Given the description of an element on the screen output the (x, y) to click on. 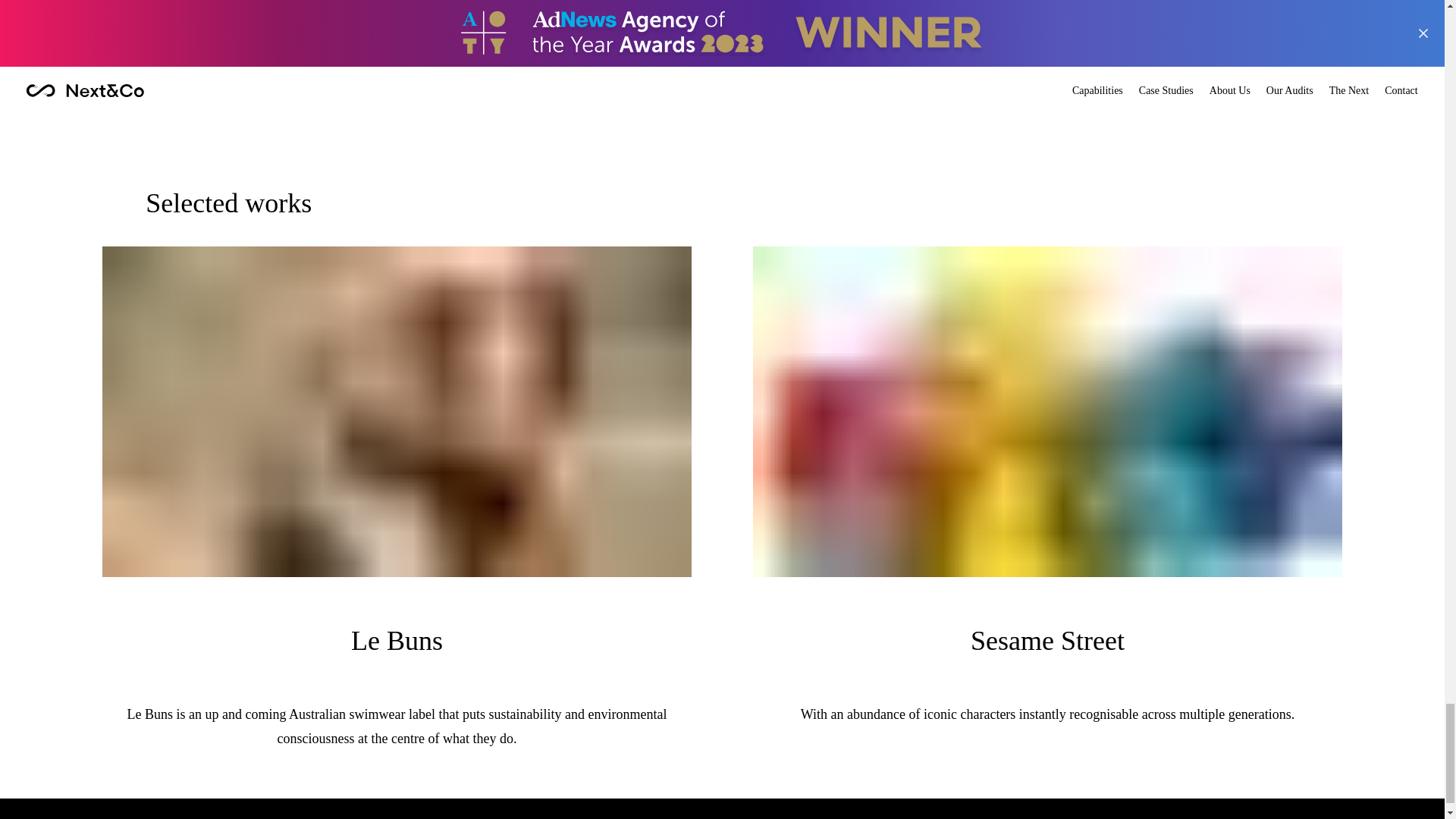
Get in touch about your project (721, 81)
Sesame Street (1047, 644)
Le Buns (396, 644)
